Given the description of an element on the screen output the (x, y) to click on. 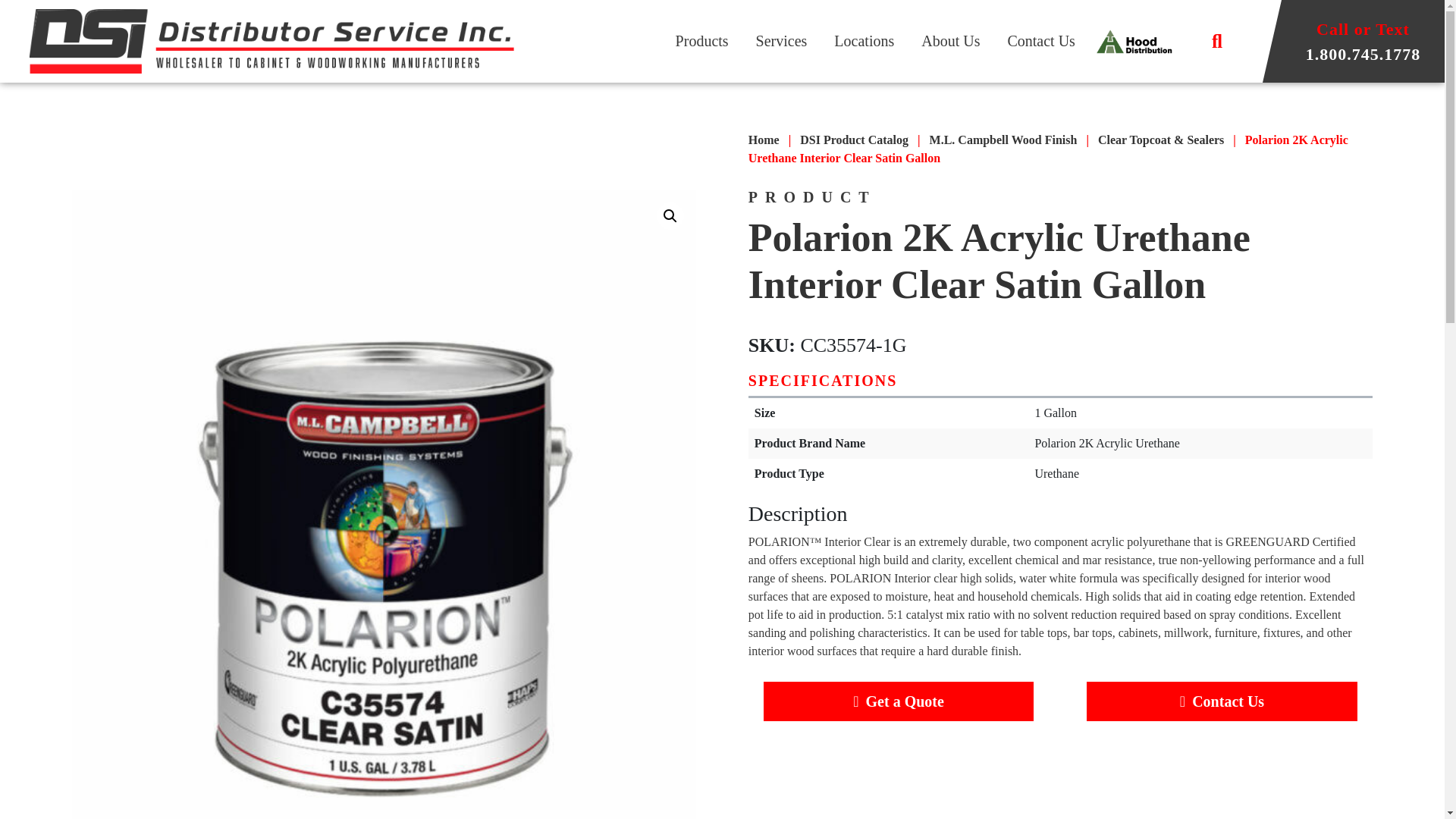
About Us (950, 39)
Products (702, 39)
Products (702, 39)
1.800.745.1778 (1363, 53)
M.L. Campbell Wood Finish (1003, 139)
Services (781, 39)
Hood Distribution (1134, 40)
Locations (863, 39)
Contact Us (1221, 701)
Contact Us (1040, 39)
Hood Distribution (1134, 40)
DSI Product Catalog (853, 139)
Home (763, 139)
Get a Quote (897, 701)
Contact Us (1040, 39)
